Given the description of an element on the screen output the (x, y) to click on. 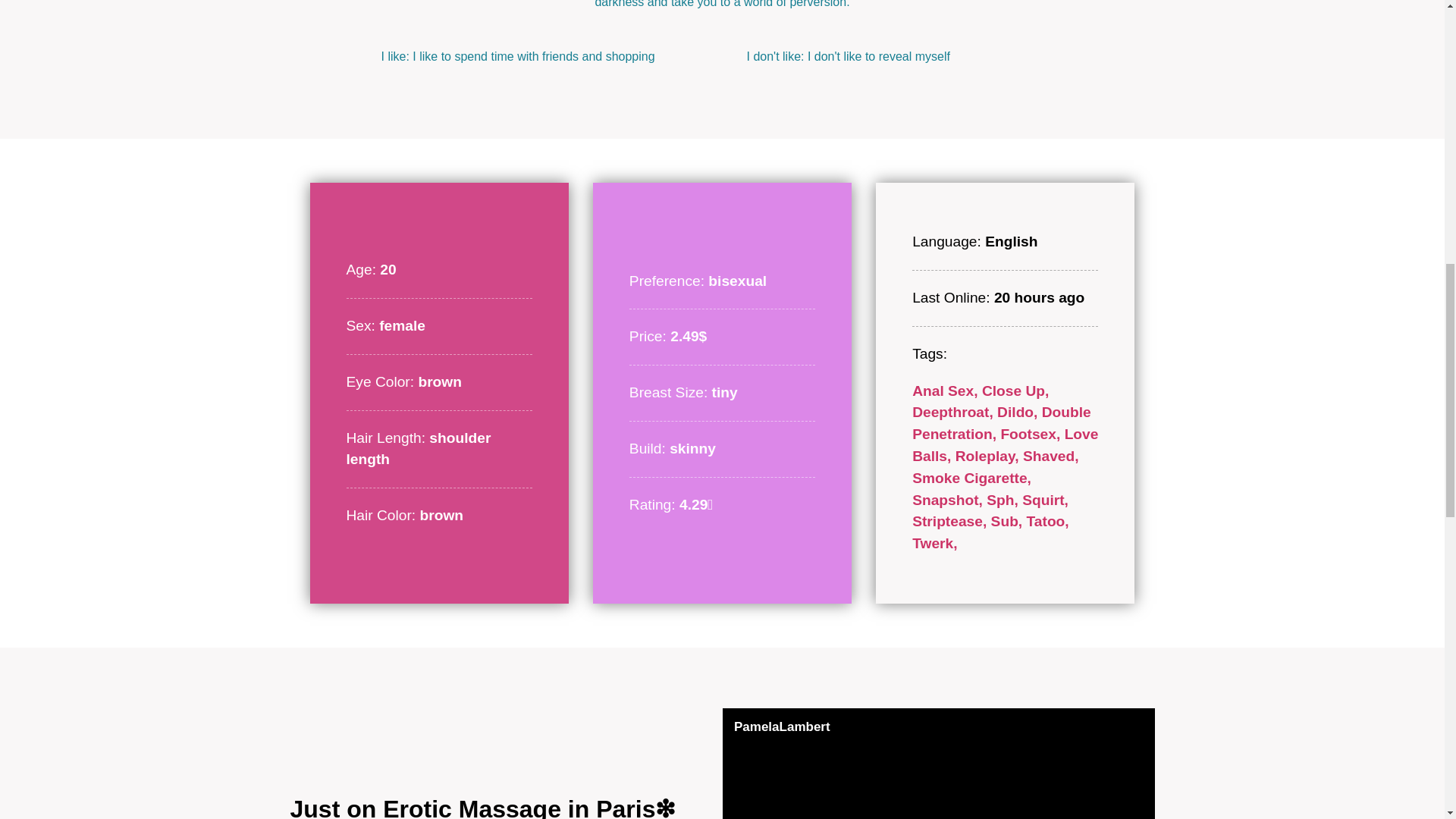
Deepthroat (954, 412)
Close Up (1015, 390)
Anal Sex (946, 390)
